Given the description of an element on the screen output the (x, y) to click on. 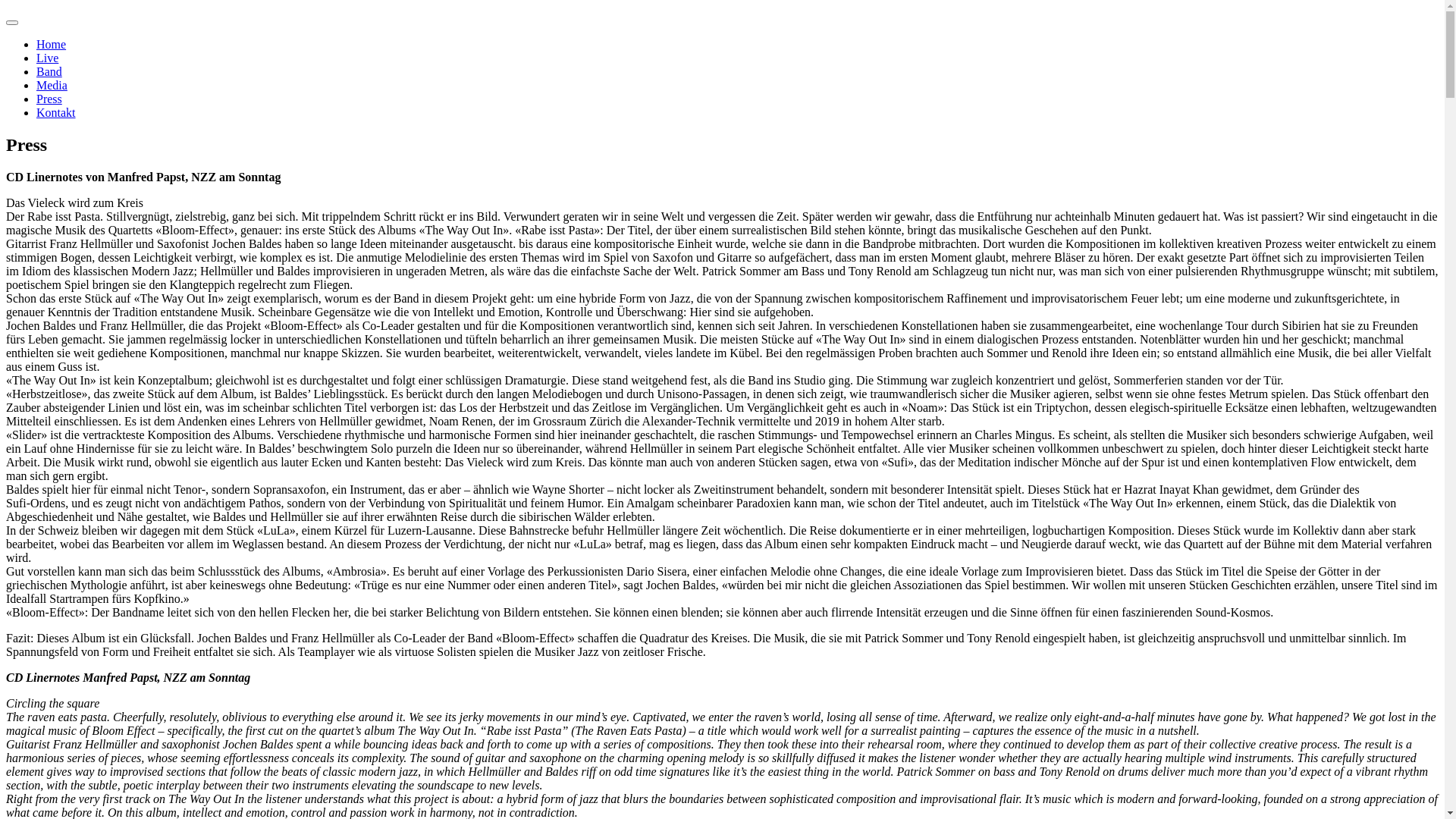
Home Element type: text (50, 43)
Live Element type: text (47, 57)
Kontakt Element type: text (55, 112)
Press Element type: text (49, 98)
Media Element type: text (51, 84)
Skip to content Element type: text (5, 11)
Band Element type: text (49, 71)
